Given the description of an element on the screen output the (x, y) to click on. 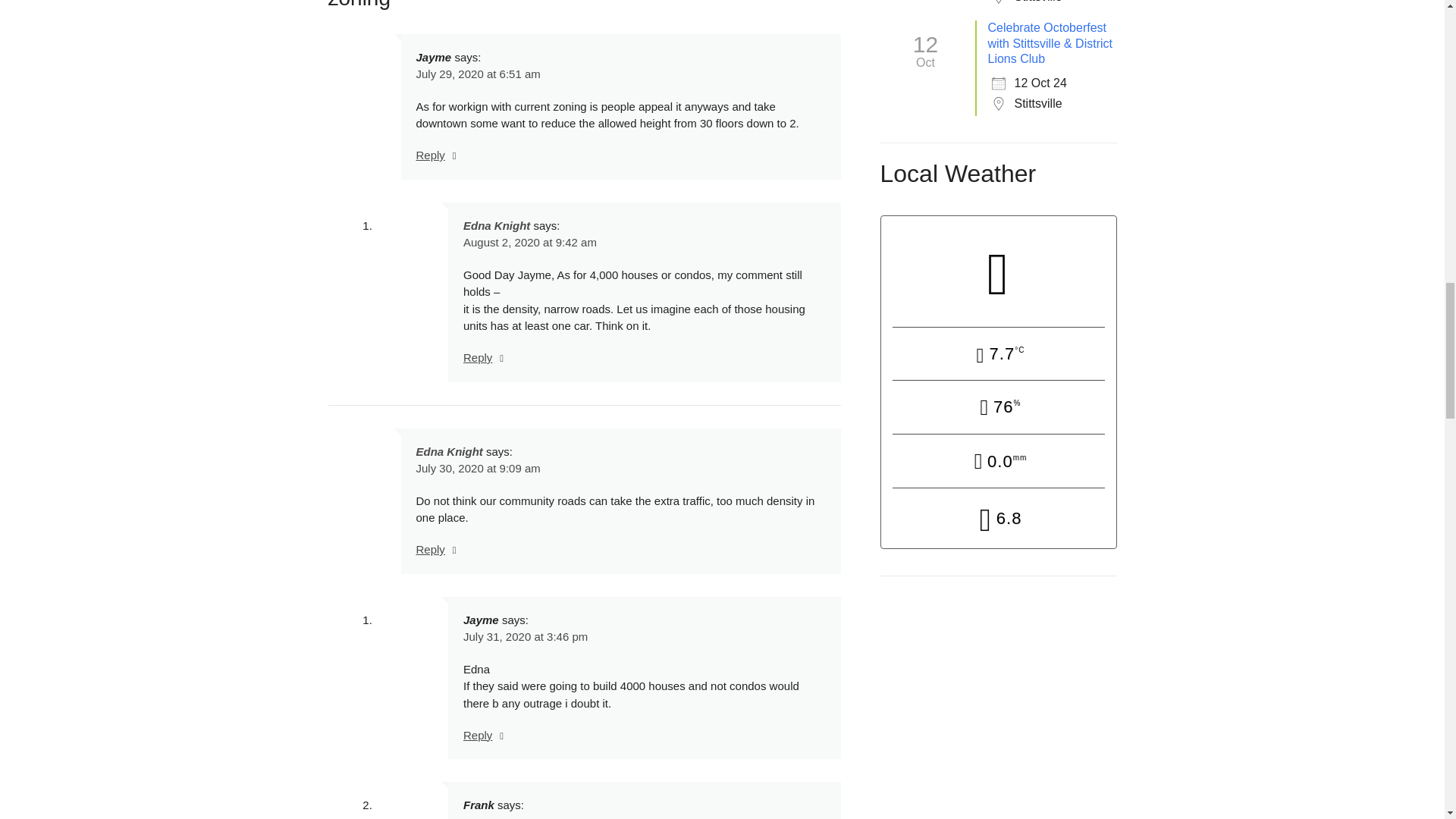
Reply (477, 357)
Relative humidity (998, 408)
July 29, 2020 at 6:51 am (477, 73)
August 2, 2020 at 9:42 am (529, 241)
Wind chill (998, 519)
Reply (429, 154)
Temperature (998, 355)
Edna Knight (496, 225)
Rainfall (998, 461)
Current weather conditions (998, 271)
